Given the description of an element on the screen output the (x, y) to click on. 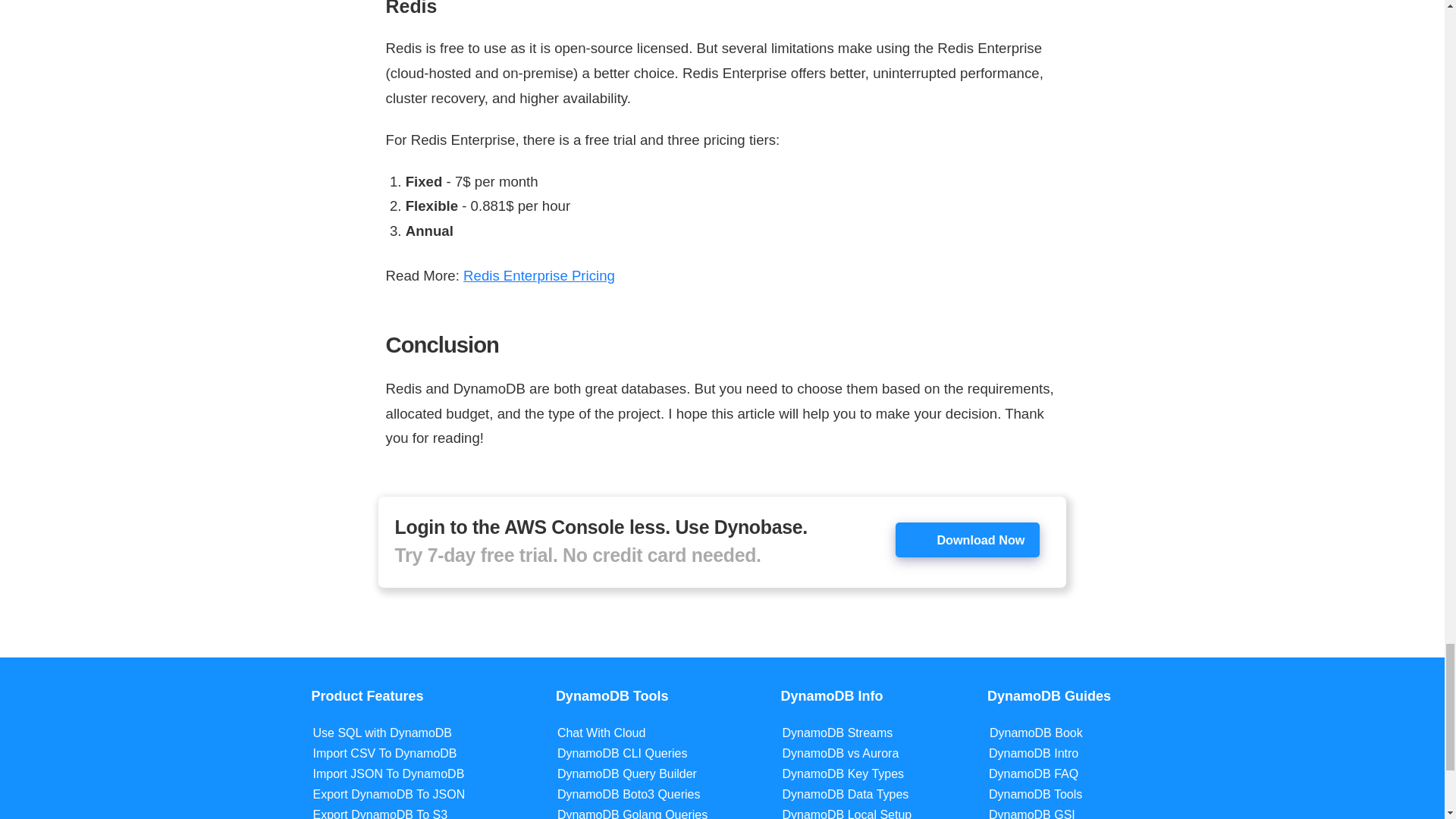
DynamoDB Boto3 Queries (628, 794)
Import JSON To DynamoDB (388, 773)
Download Now (968, 539)
Export DynamoDB To JSON (389, 794)
Import CSV To DynamoDB (384, 753)
DynamoDB Golang Queries (632, 812)
Redis Enterprise Pricing (538, 275)
Export DynamoDB To S3 (380, 812)
Chat With Cloud (601, 732)
DynamoDB CLI Queries (622, 753)
DynamoDB Query Builder (627, 773)
Use SQL with DynamoDB (381, 732)
Download Now (967, 539)
